Given the description of an element on the screen output the (x, y) to click on. 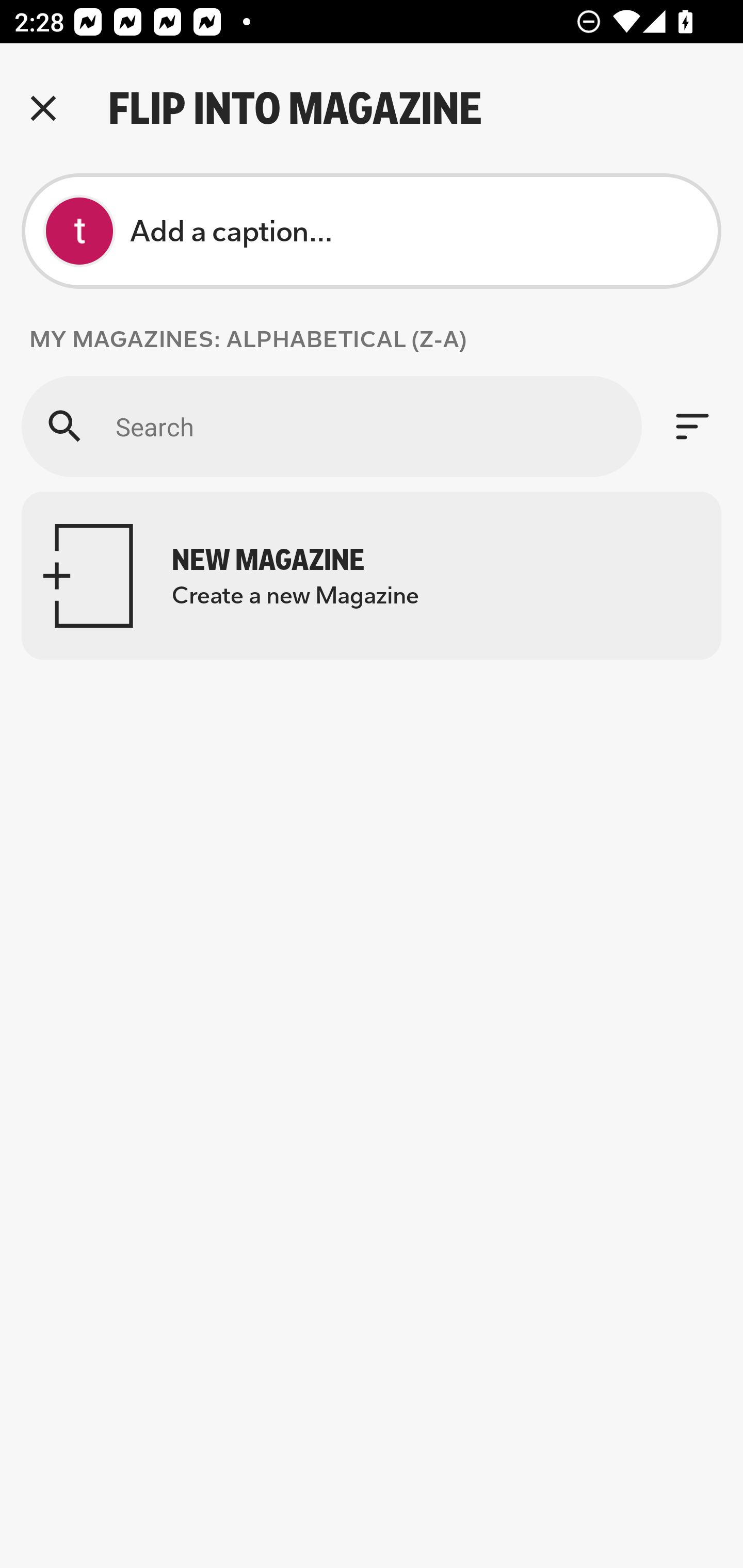
test appium Add a caption… (371, 231)
Search (331, 426)
NEW MAGAZINE Create a new Magazine (371, 575)
